Given the description of an element on the screen output the (x, y) to click on. 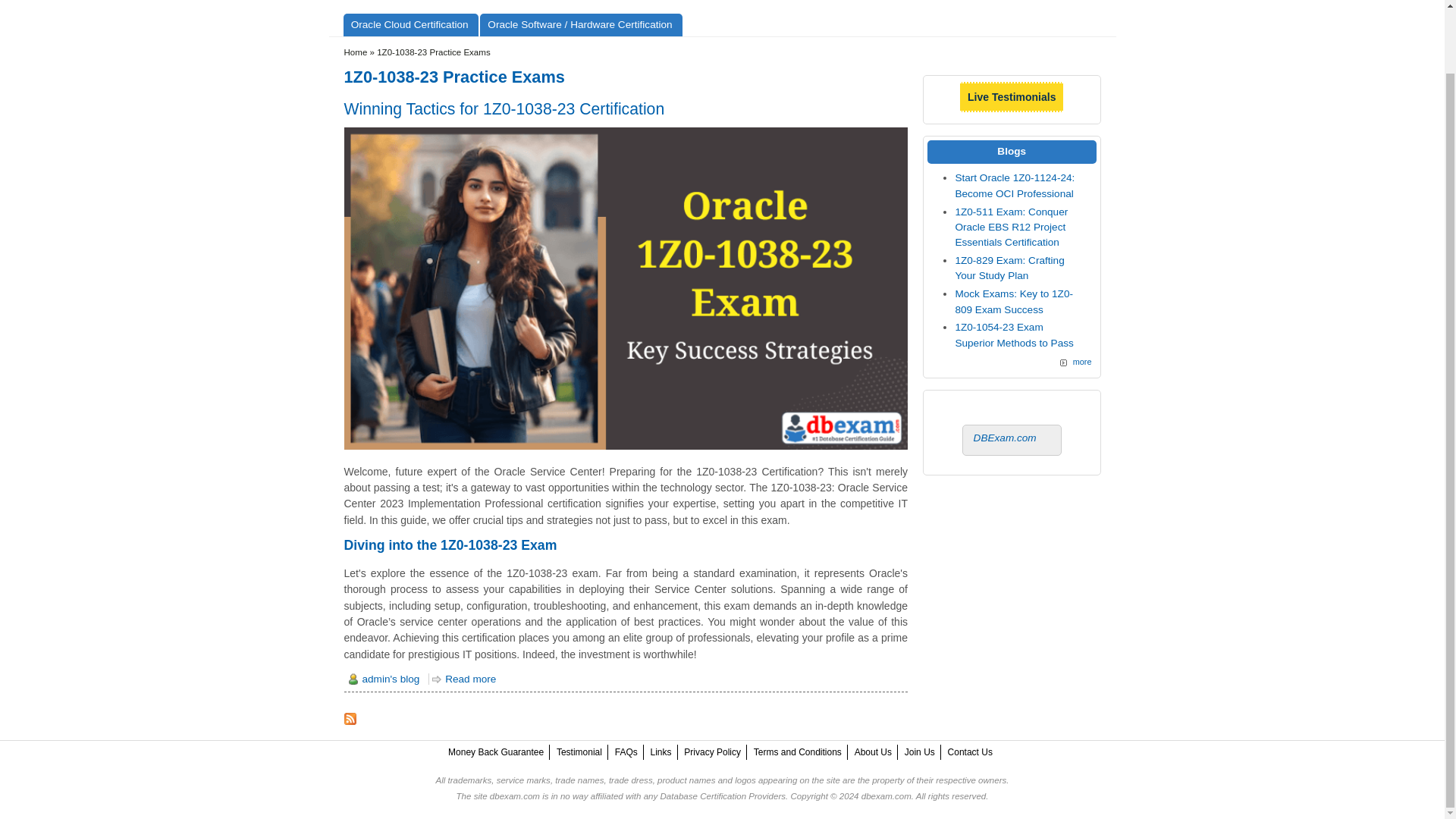
Read admin's latest blog entries. (385, 678)
Links (660, 751)
FAQs (625, 751)
more (1075, 361)
Start Oracle 1Z0-1124-24: Become OCI Professional (1014, 185)
Privacy Policy (712, 751)
Read more (464, 678)
1Z0-829 Exam: Crafting Your Study Plan (1009, 267)
Oracle Cloud Certification (410, 24)
Home (355, 51)
Terms and Conditions (797, 751)
Money Back Guarantee (495, 751)
Mock Exams: Key to 1Z0-809 Exam Success (1014, 301)
1Z0-1054-23 Exam Superior Methods to Pass (1014, 334)
